Given the description of an element on the screen output the (x, y) to click on. 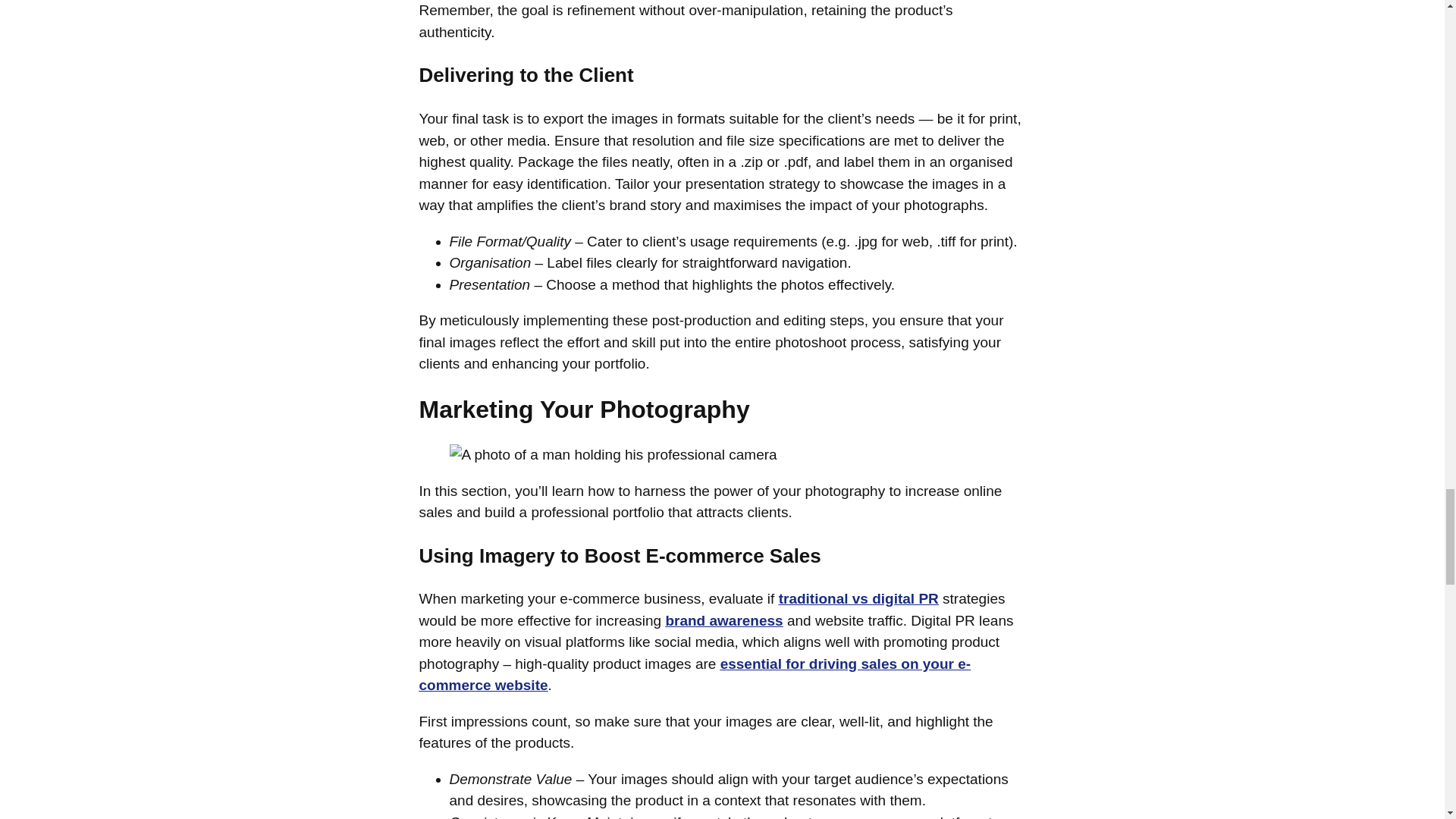
essential for driving sales on your e-commerce website (695, 674)
brand awareness (724, 620)
traditional vs digital PR (858, 598)
